Given the description of an element on the screen output the (x, y) to click on. 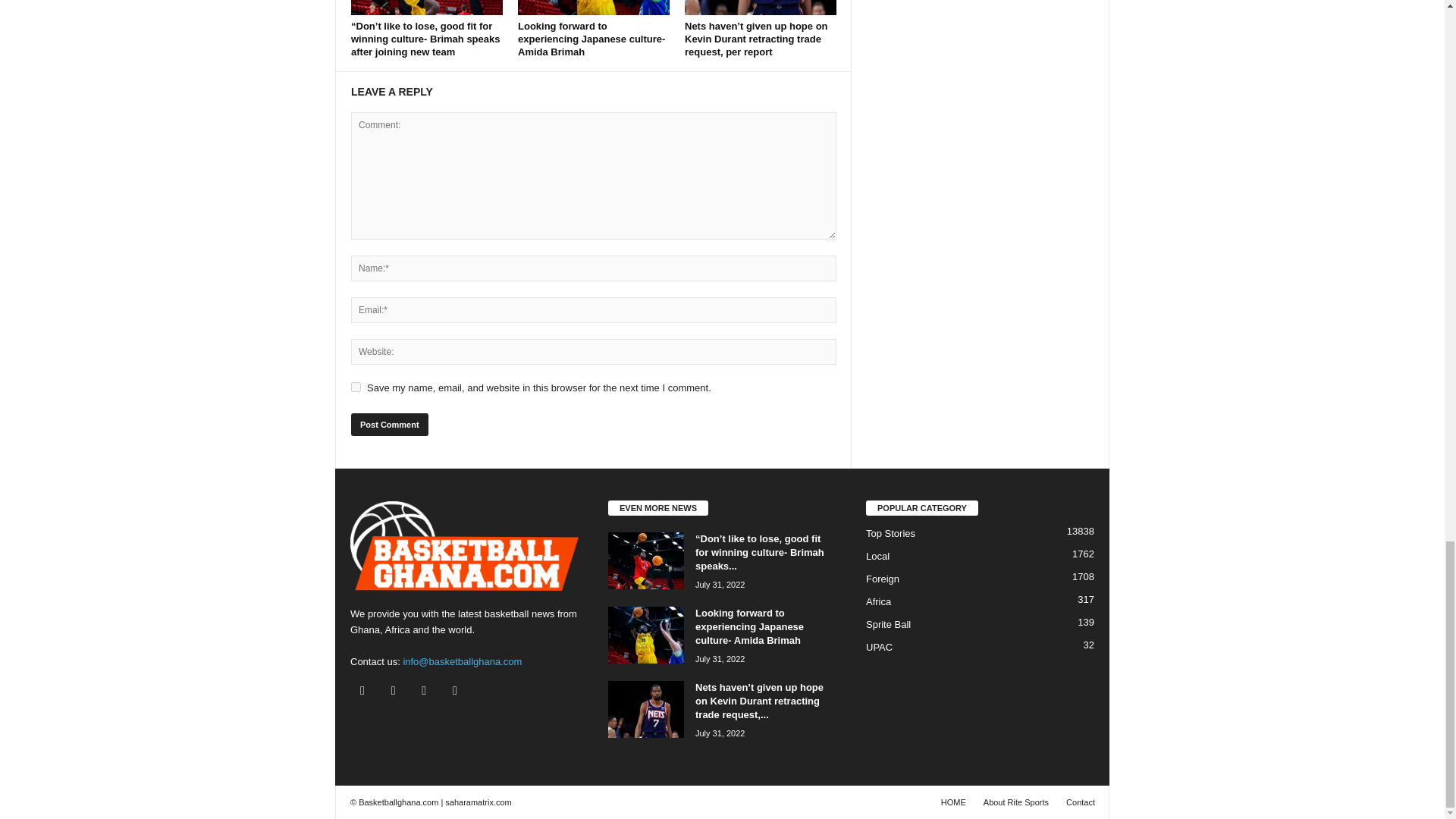
yes (355, 387)
Post Comment (389, 424)
